Given the description of an element on the screen output the (x, y) to click on. 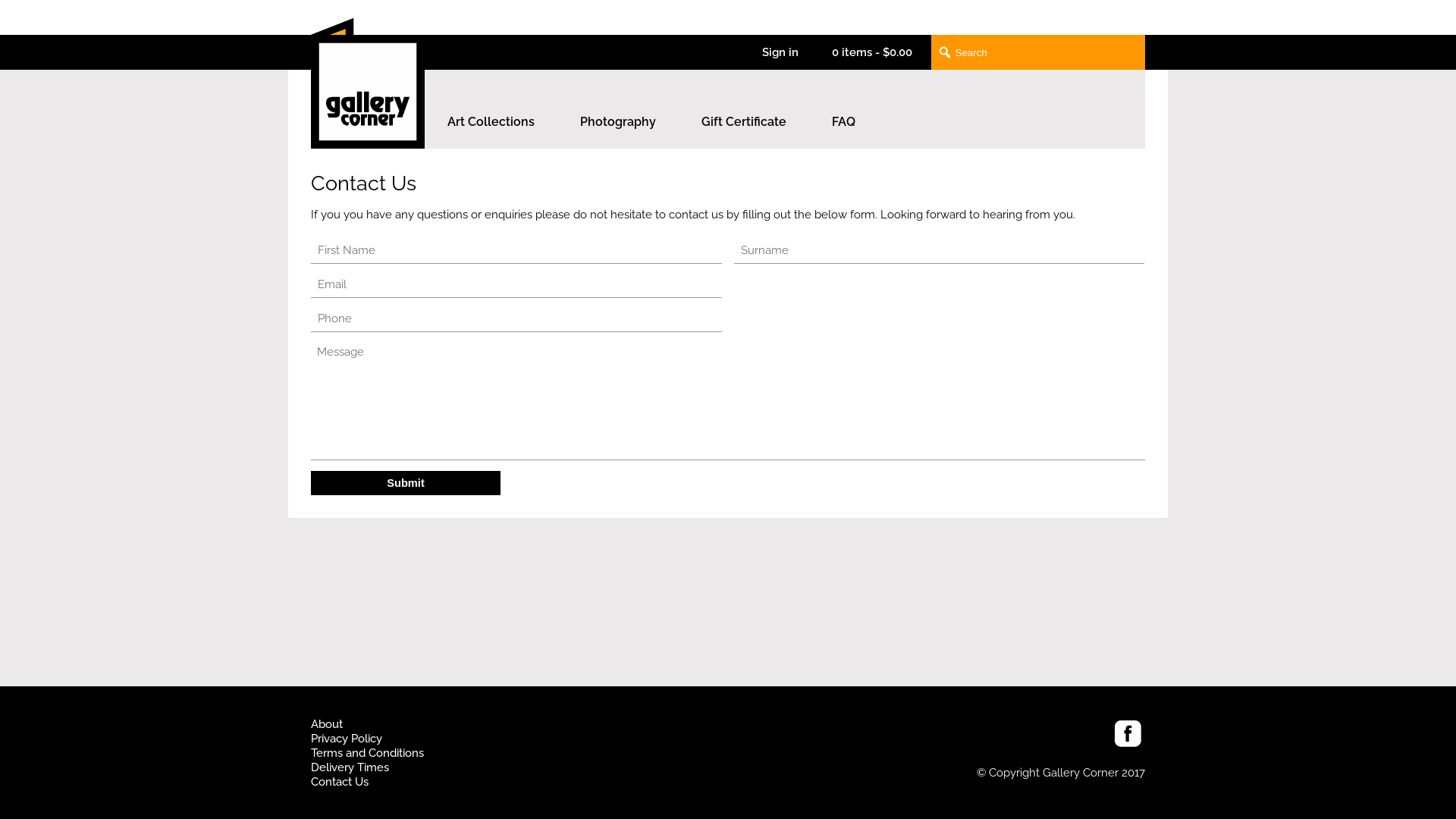
Terms and Conditions Element type: text (366, 752)
Photography Element type: text (617, 108)
Privacy Policy Element type: text (346, 737)
About Element type: text (326, 723)
FAQ Element type: text (843, 108)
Gift Certificate Element type: text (743, 108)
0 items$0.00 Element type: text (871, 51)
Submit Element type: text (405, 482)
Delivery Times Element type: text (349, 766)
Sign in Element type: text (779, 51)
Contact Us Element type: text (339, 781)
Art Collections Element type: text (490, 108)
Go Element type: text (107, 17)
